Given the description of an element on the screen output the (x, y) to click on. 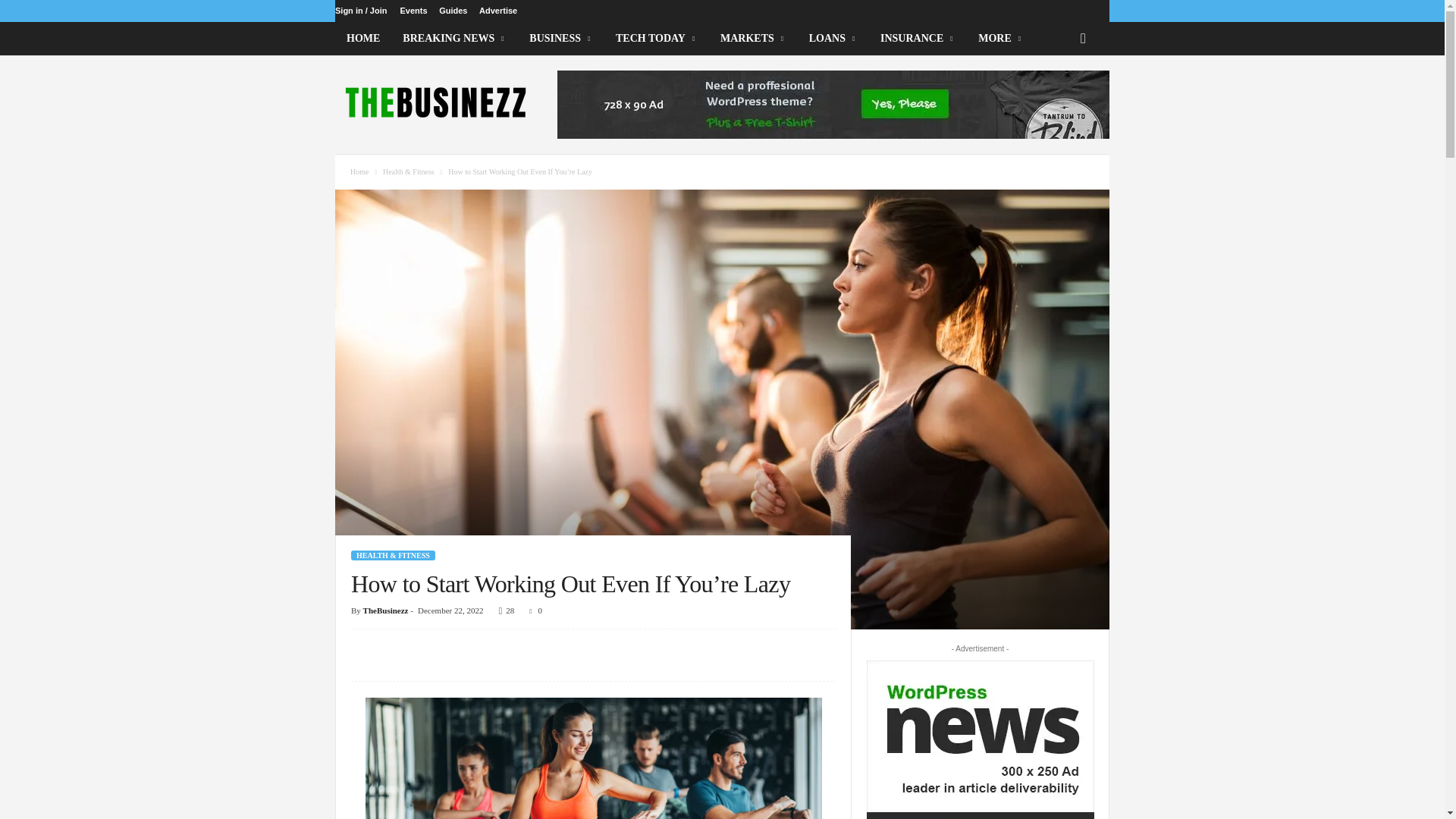
BREAKING NEWS (454, 38)
Events (412, 10)
HOME (362, 38)
Advertise (497, 10)
Guides (453, 10)
